Given the description of an element on the screen output the (x, y) to click on. 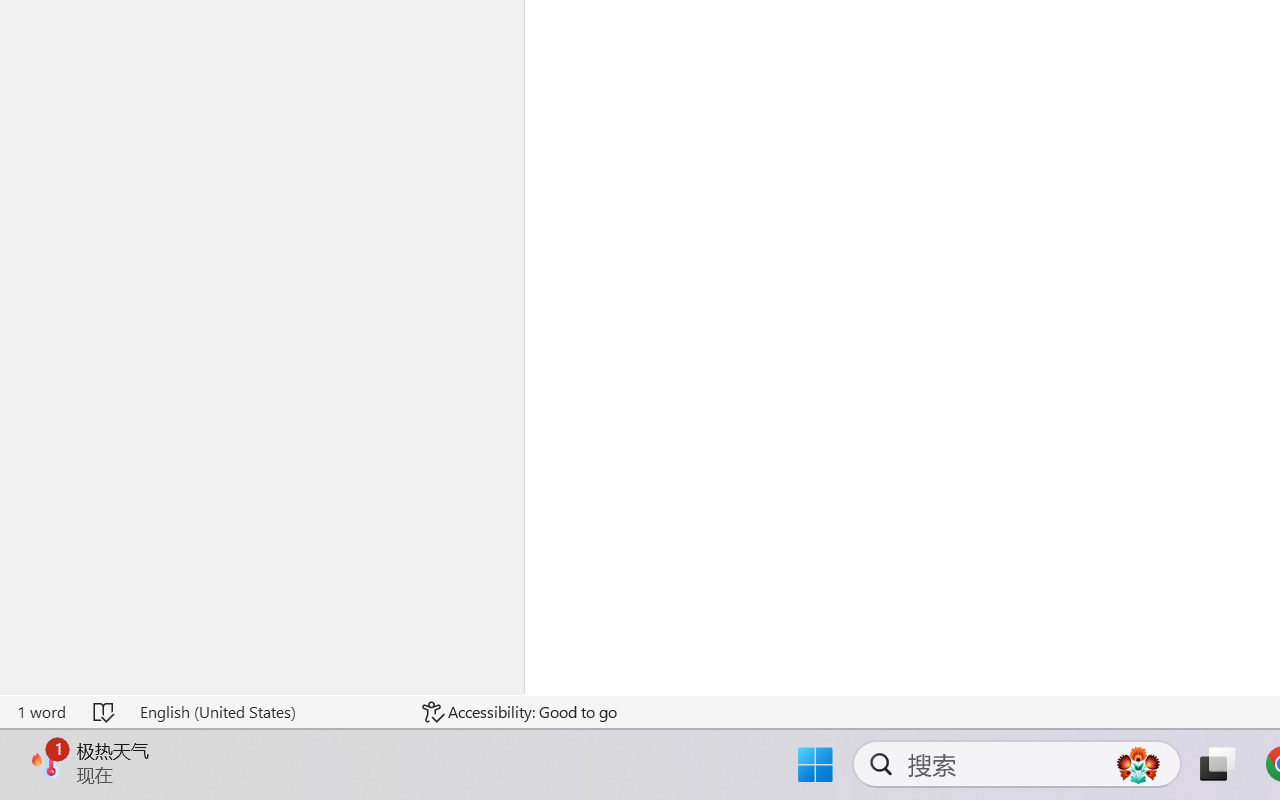
AutomationID: DynamicSearchBoxGleamImage (1138, 764)
Accessibility Checker Accessibility: Good to go (519, 712)
AutomationID: BadgeAnchorLargeTicker (46, 762)
Word Count 1 word (41, 712)
Spelling and Grammar Check No Errors (105, 712)
Language English (United States) (267, 712)
